Given the description of an element on the screen output the (x, y) to click on. 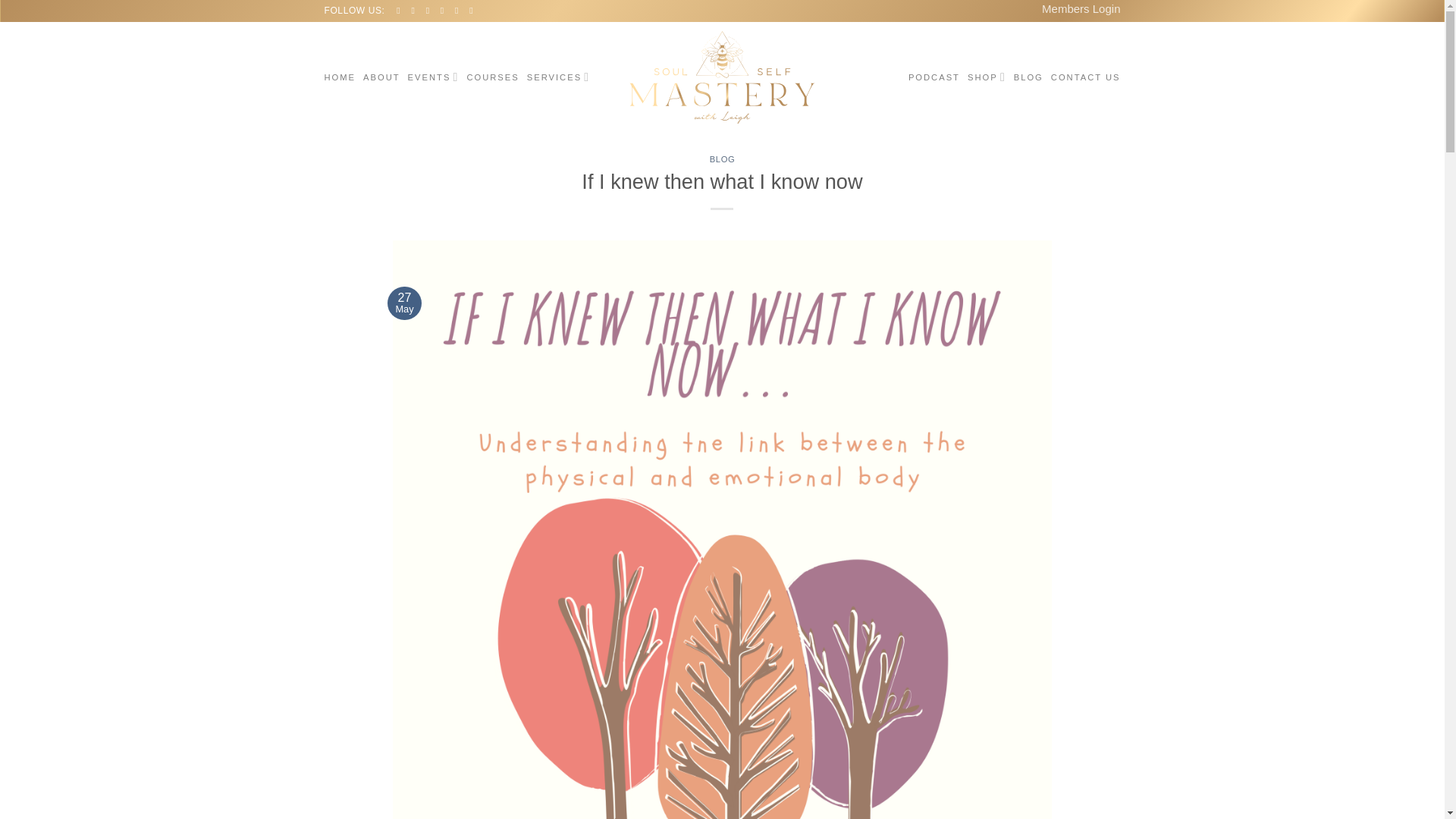
Members Login (1080, 11)
Members Login (1080, 11)
CONTACT US (1086, 76)
Soul Self Mastery - Intuitive Wellbeing Coach and Teacher (721, 77)
BLOG (722, 158)
